Given the description of an element on the screen output the (x, y) to click on. 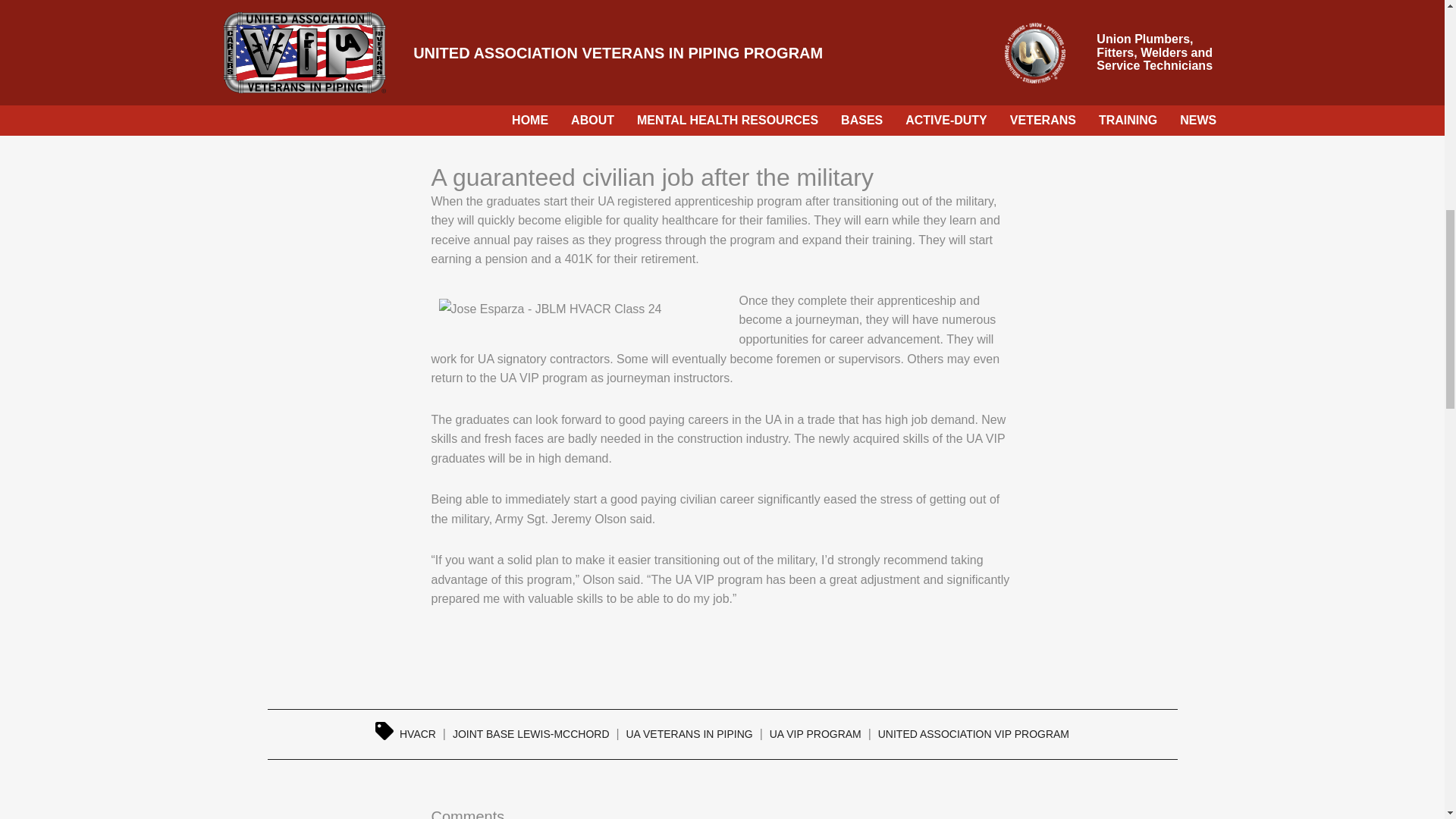
JOINT BASE LEWIS-MCCHORD (531, 733)
UA VETERANS IN PIPING (689, 733)
at select military bases across the country (721, 82)
HVACR (416, 733)
